Given the description of an element on the screen output the (x, y) to click on. 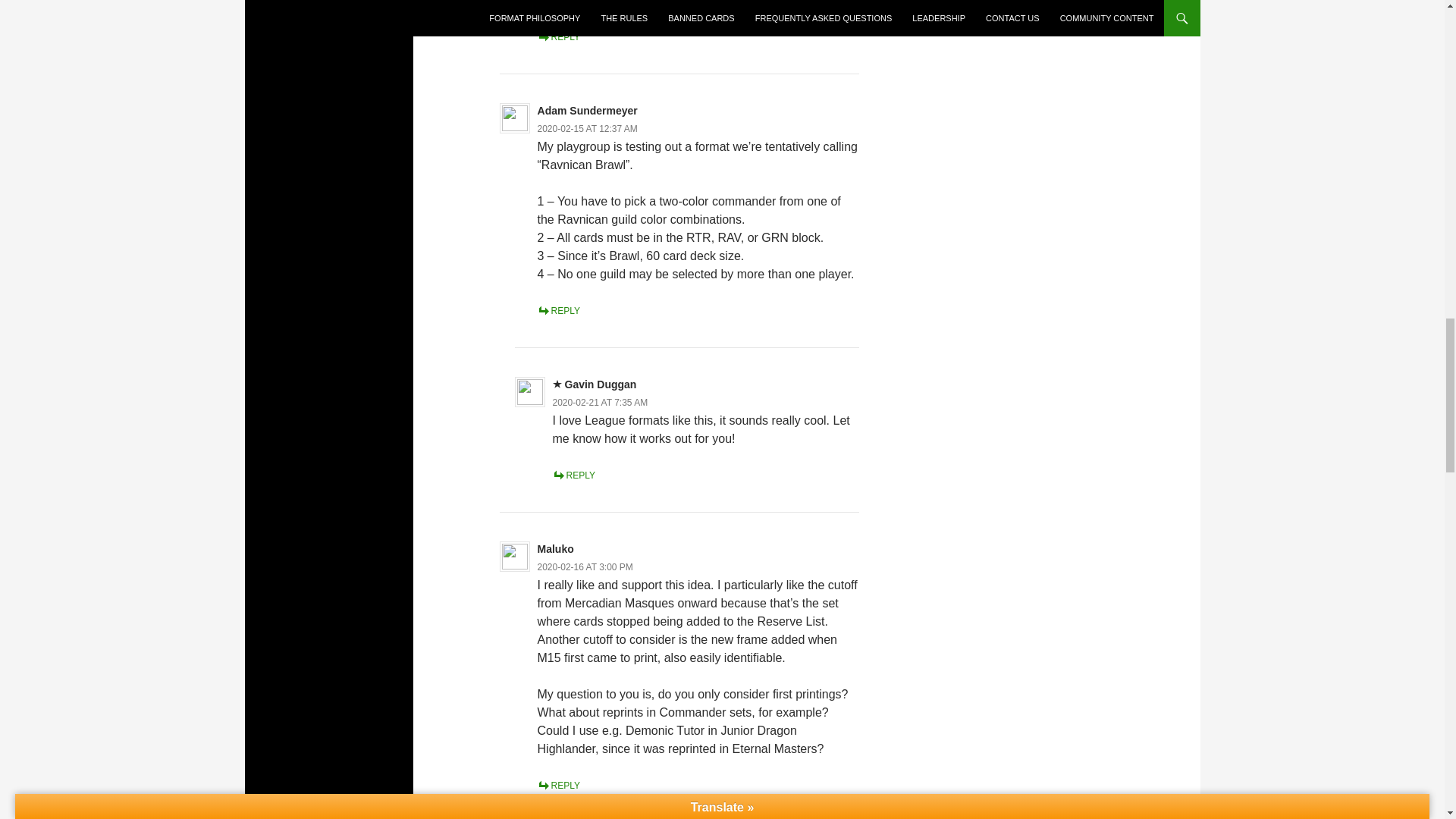
2020-02-15 AT 12:37 AM (587, 128)
2020-02-16 AT 3:00 PM (585, 566)
REPLY (574, 475)
REPLY (558, 310)
REPLY (558, 36)
REPLY (558, 785)
2020-02-21 AT 7:35 AM (600, 402)
